Given the description of an element on the screen output the (x, y) to click on. 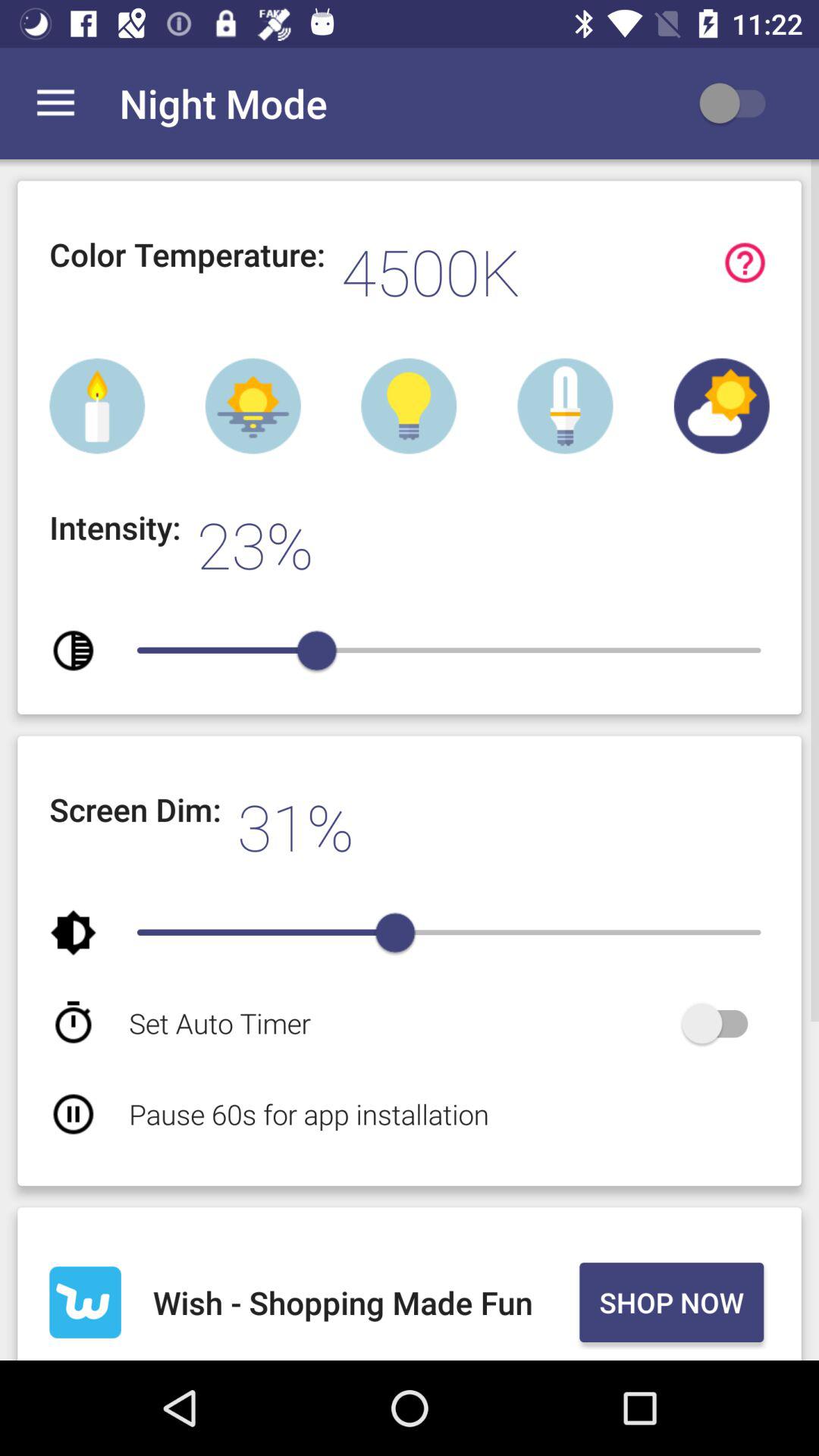
set auto timer (722, 1023)
